Given the description of an element on the screen output the (x, y) to click on. 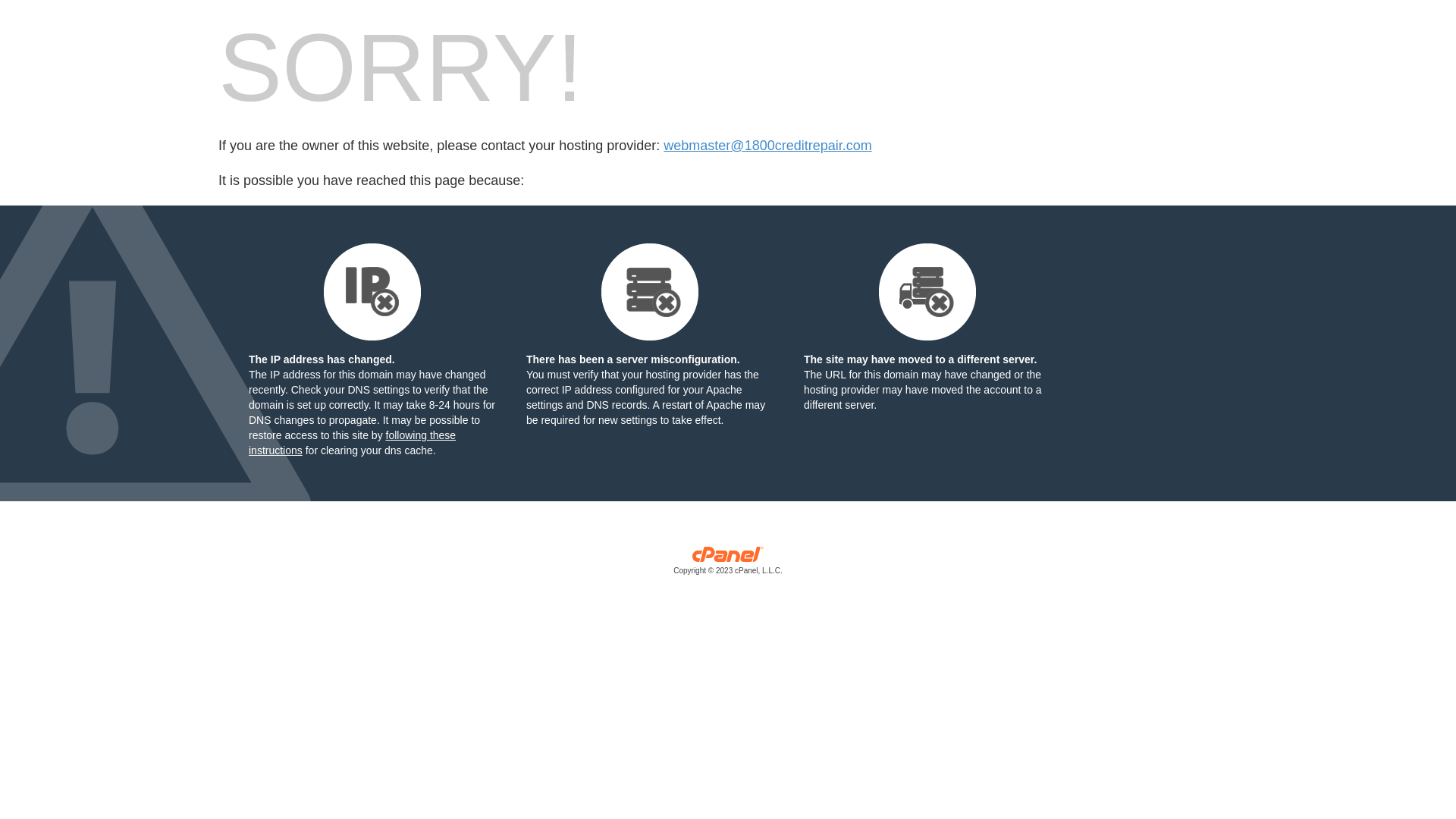
following these instructions Element type: text (351, 442)
webmaster@1800creditrepair.com Element type: text (767, 145)
